Given the description of an element on the screen output the (x, y) to click on. 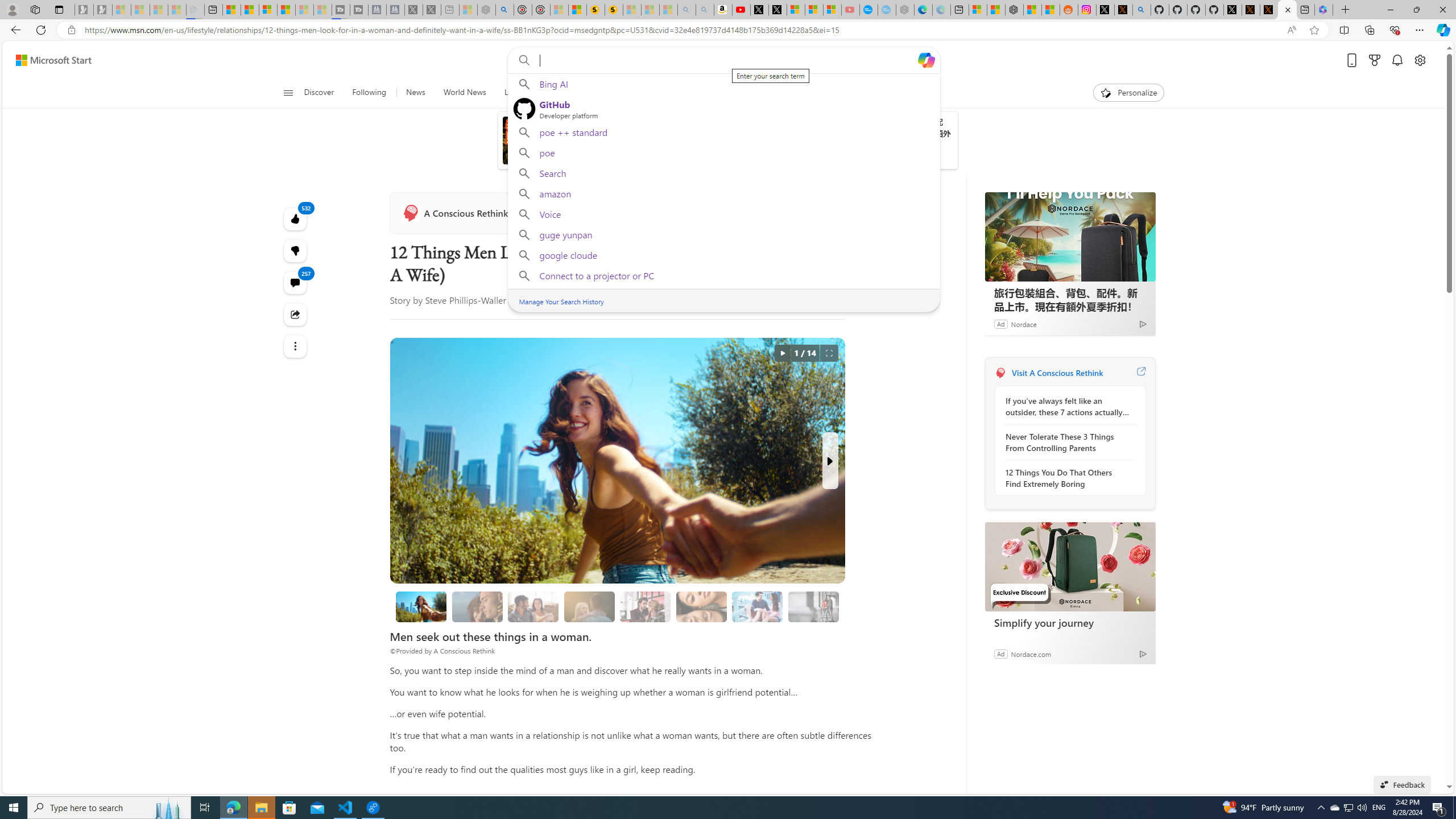
poe (723, 152)
guge yunpan (723, 234)
The most popular Google 'how to' searches - Sleeping (887, 9)
Share this story (295, 314)
World News (464, 92)
